Given the description of an element on the screen output the (x, y) to click on. 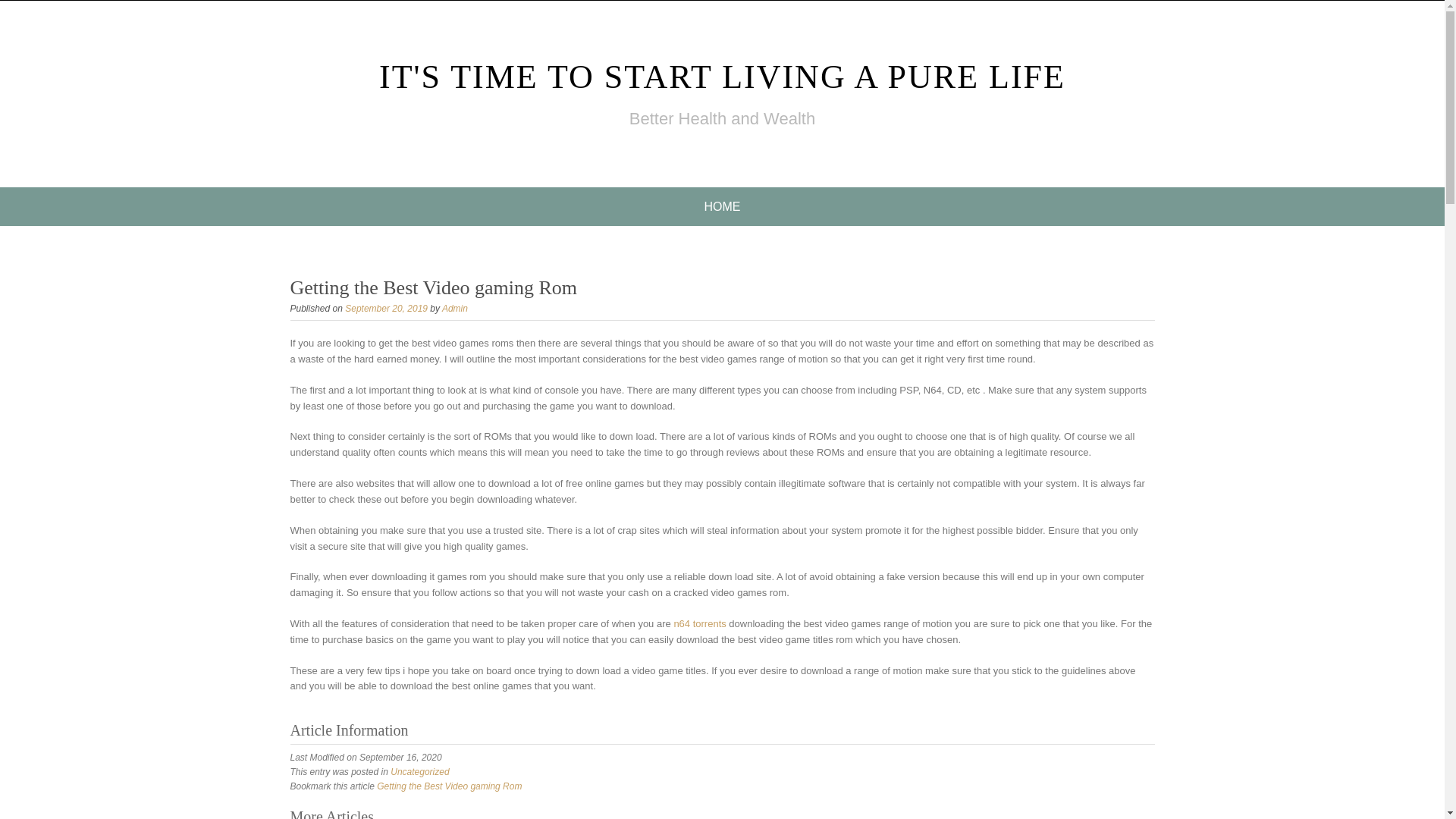
n64 torrents (698, 623)
Admin (454, 308)
IT'S TIME TO START LIVING A PURE LIFE (721, 76)
September 20, 2019 (386, 308)
Uncategorized (419, 771)
Getting the Best Video gaming Rom (449, 786)
HOME (721, 206)
